Given the description of an element on the screen output the (x, y) to click on. 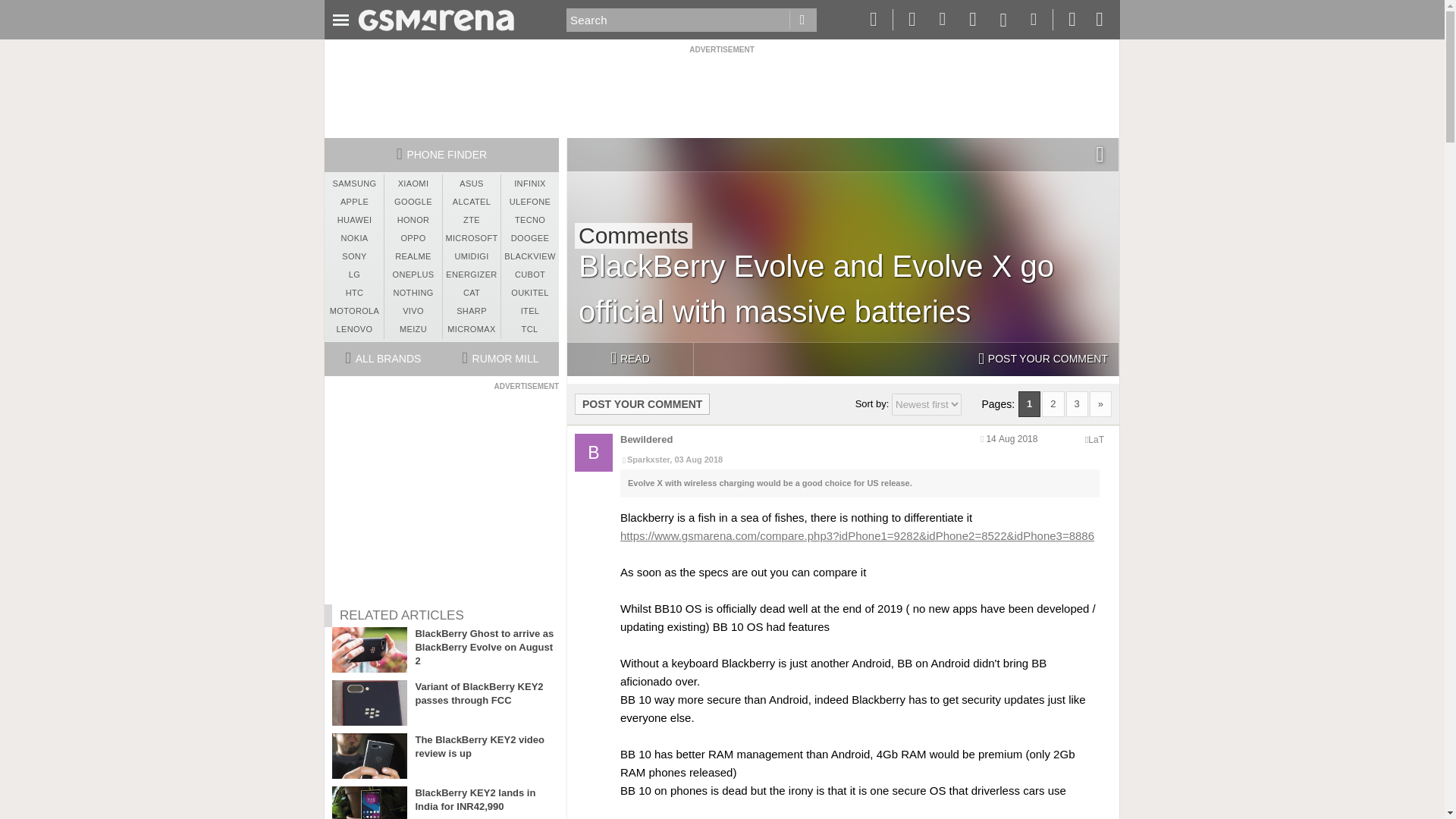
POST YOUR COMMENT (1042, 359)
POST YOUR COMMENT (642, 403)
READ (630, 359)
Go (802, 19)
Encoded anonymized location (1095, 439)
Sort comments by (925, 404)
Go (802, 19)
